Given the description of an element on the screen output the (x, y) to click on. 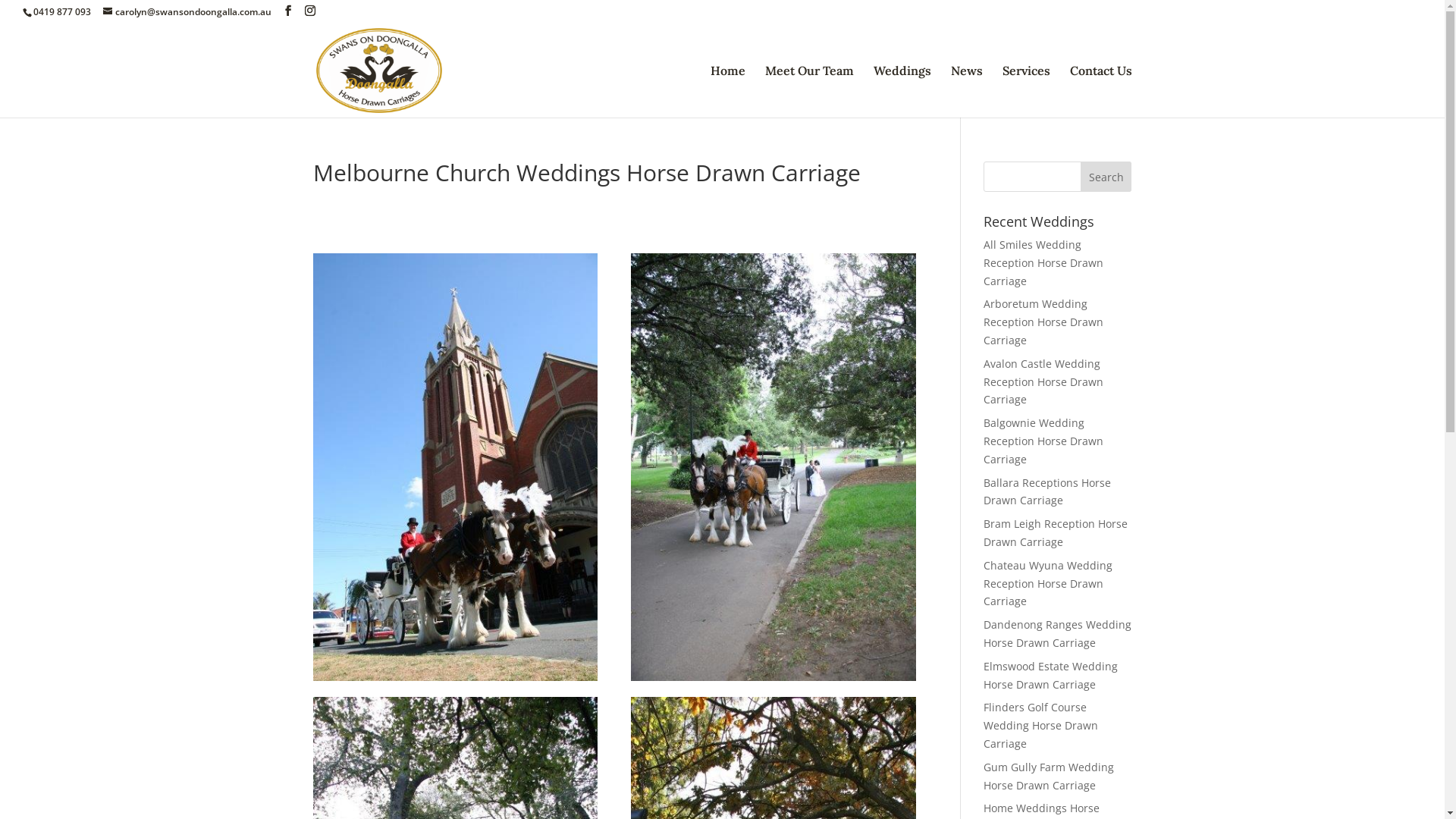
0419 877 093 Element type: text (61, 11)
Arboretum Wedding Reception Horse Drawn Carriage Element type: text (1043, 321)
All Smiles Wedding Reception Horse Drawn Carriage Element type: text (1043, 262)
Dandenong Ranges Wedding Horse Drawn Carriage Element type: text (1057, 633)
Home Element type: text (726, 91)
Weddings Element type: text (902, 91)
Ballara Receptions Horse Drawn Carriage Element type: text (1046, 491)
carolyn@swansondoongalla.com.au Element type: text (187, 11)
Balgownie Wedding Reception Horse Drawn Carriage Element type: text (1043, 440)
Bram Leigh Reception Horse Drawn Carriage Element type: text (1055, 532)
Services Element type: text (1026, 91)
Flinders Golf Course Wedding Horse Drawn Carriage Element type: text (1040, 724)
Gum Gully Farm Wedding Horse Drawn Carriage Element type: text (1048, 775)
Elmswood Estate Wedding Horse Drawn Carriage Element type: text (1050, 674)
Avalon Castle Wedding Reception Horse Drawn Carriage Element type: text (1043, 381)
Meet Our Team Element type: text (808, 91)
News Element type: text (966, 91)
Chateau Wyuna Wedding Reception Horse Drawn Carriage Element type: text (1047, 583)
Contact Us Element type: text (1100, 91)
Search Element type: text (1106, 176)
